Given the description of an element on the screen output the (x, y) to click on. 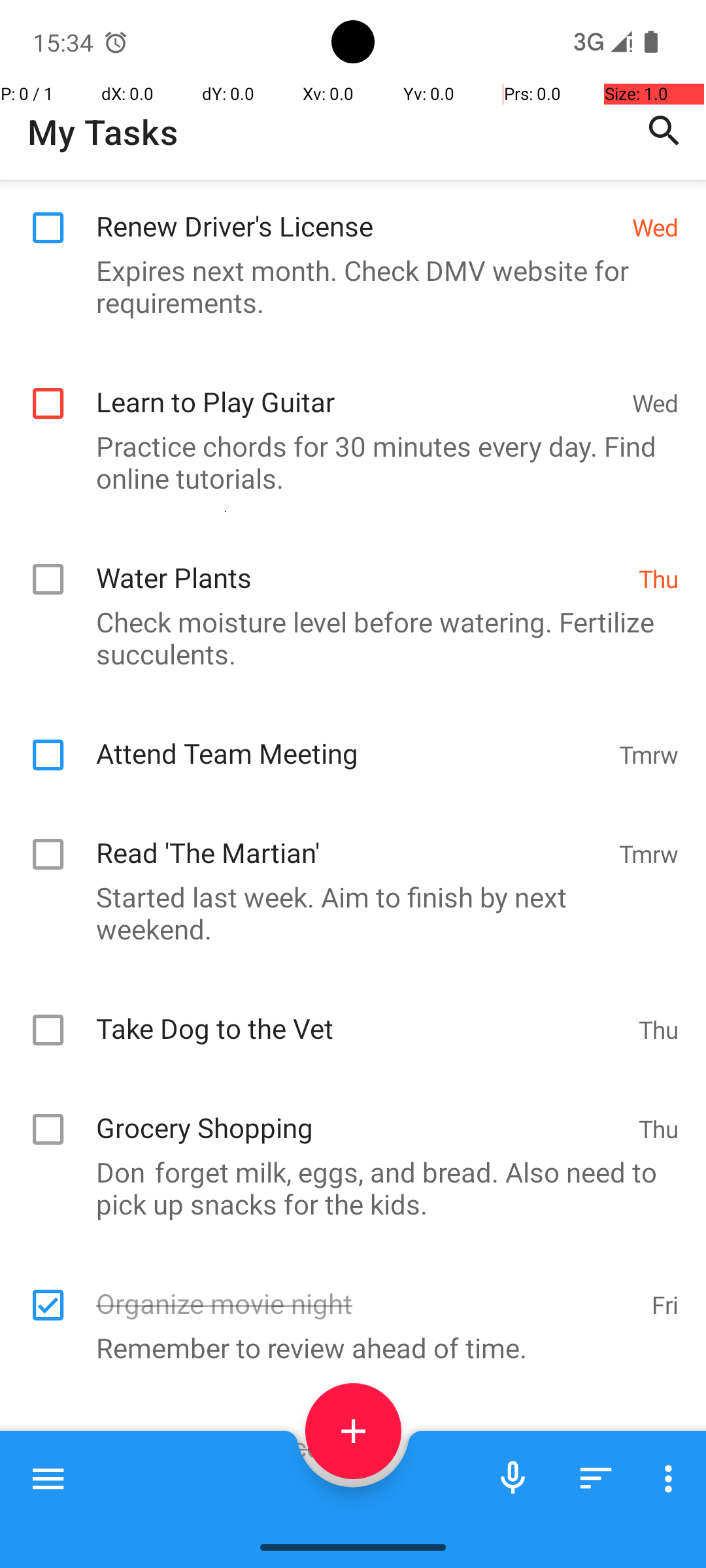
Organize movie night Element type: android.widget.TextView (367, 1289)
Remember to review ahead of time. Element type: android.widget.TextView (346, 1347)
Update website content Element type: android.widget.TextView (367, 1432)
Complete survey. Element type: android.widget.TextView (346, 1490)
